Given the description of an element on the screen output the (x, y) to click on. 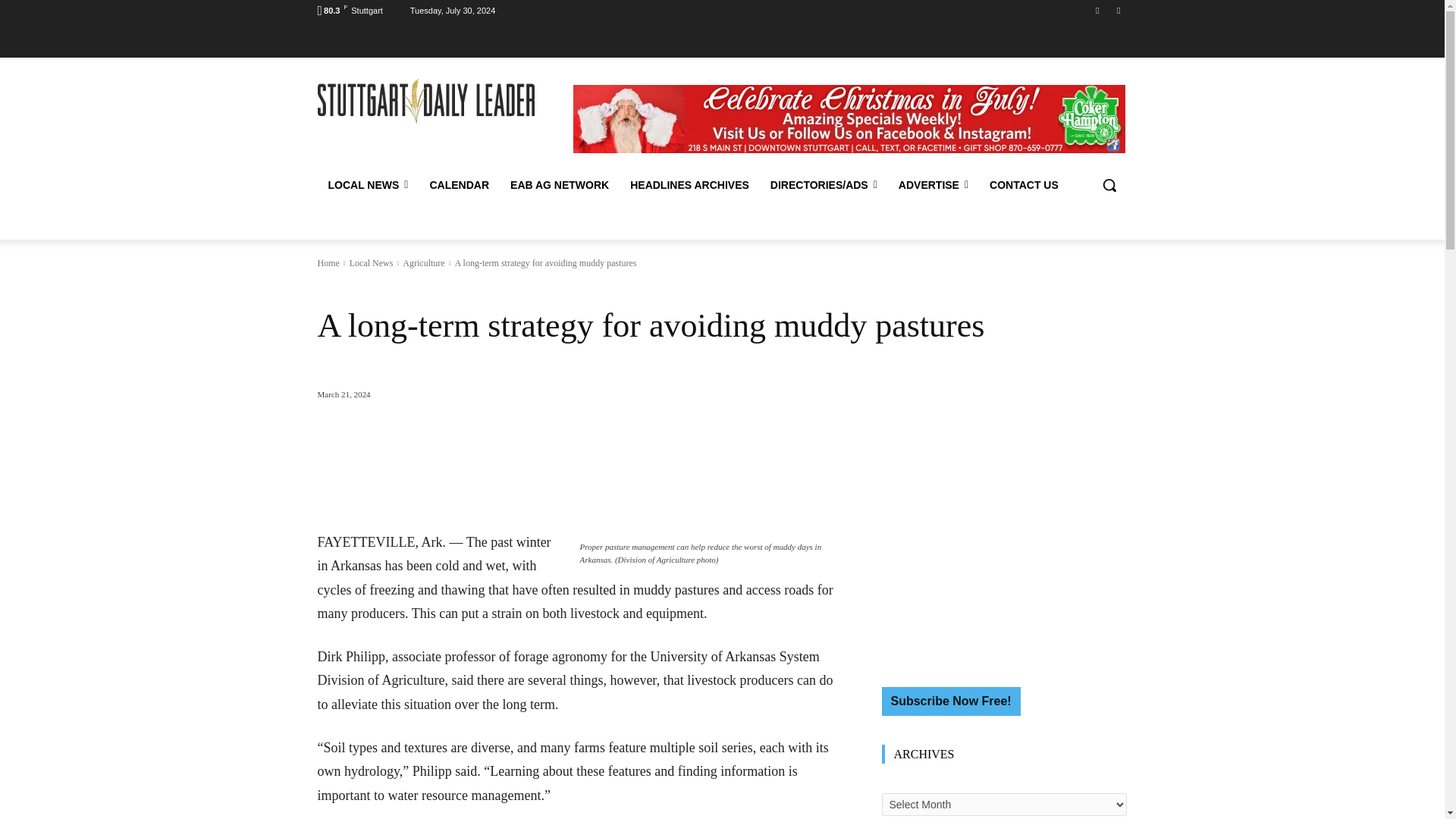
LOCAL NEWS (368, 185)
View all posts in Agriculture (423, 262)
View all posts in Local News (371, 262)
Facebook (1097, 9)
Twitter (1117, 9)
